Given the description of an element on the screen output the (x, y) to click on. 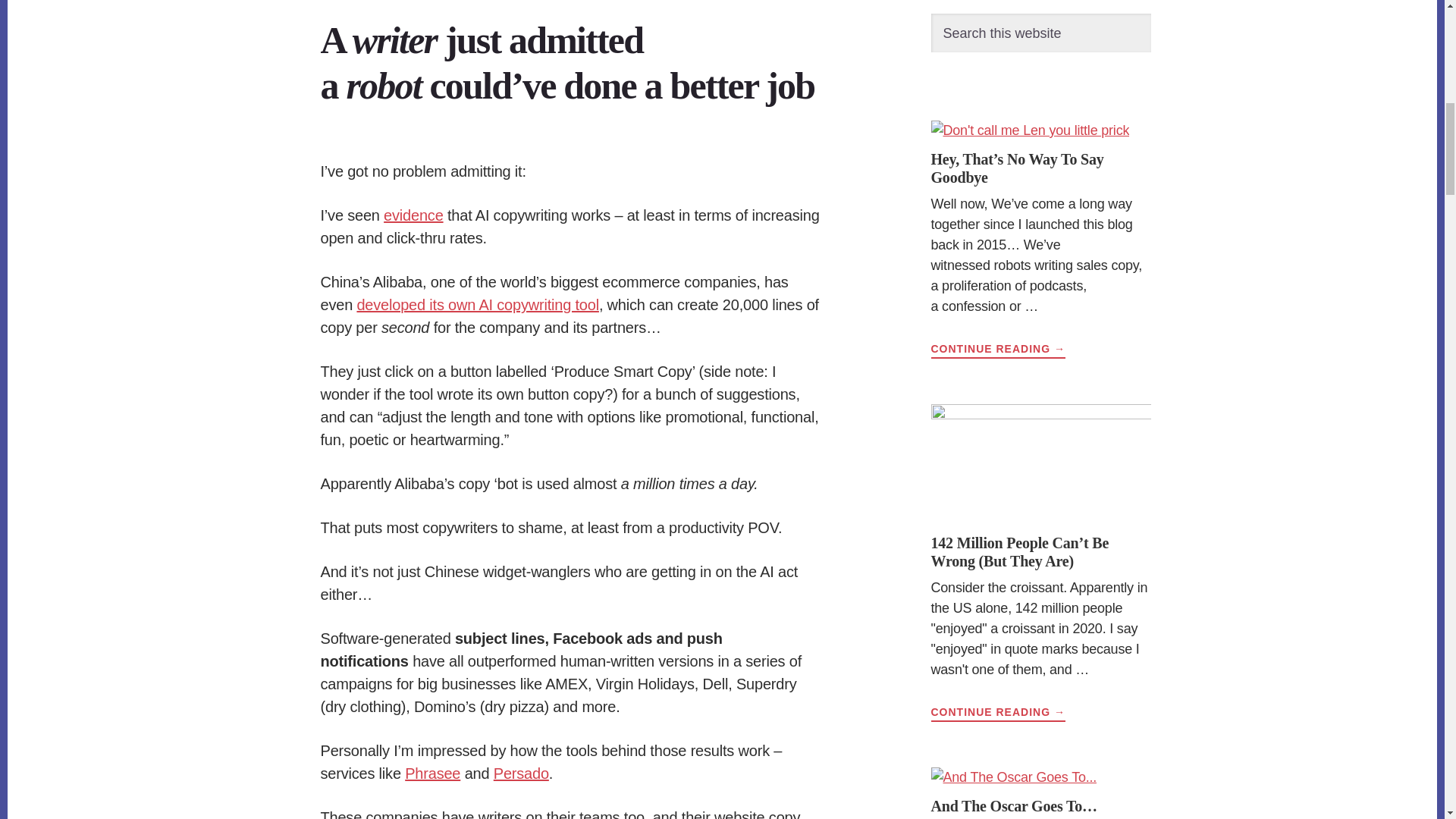
Phrasee (432, 773)
developed its own AI copywriting tool (477, 304)
Persado (520, 773)
evidence (413, 215)
